Given the description of an element on the screen output the (x, y) to click on. 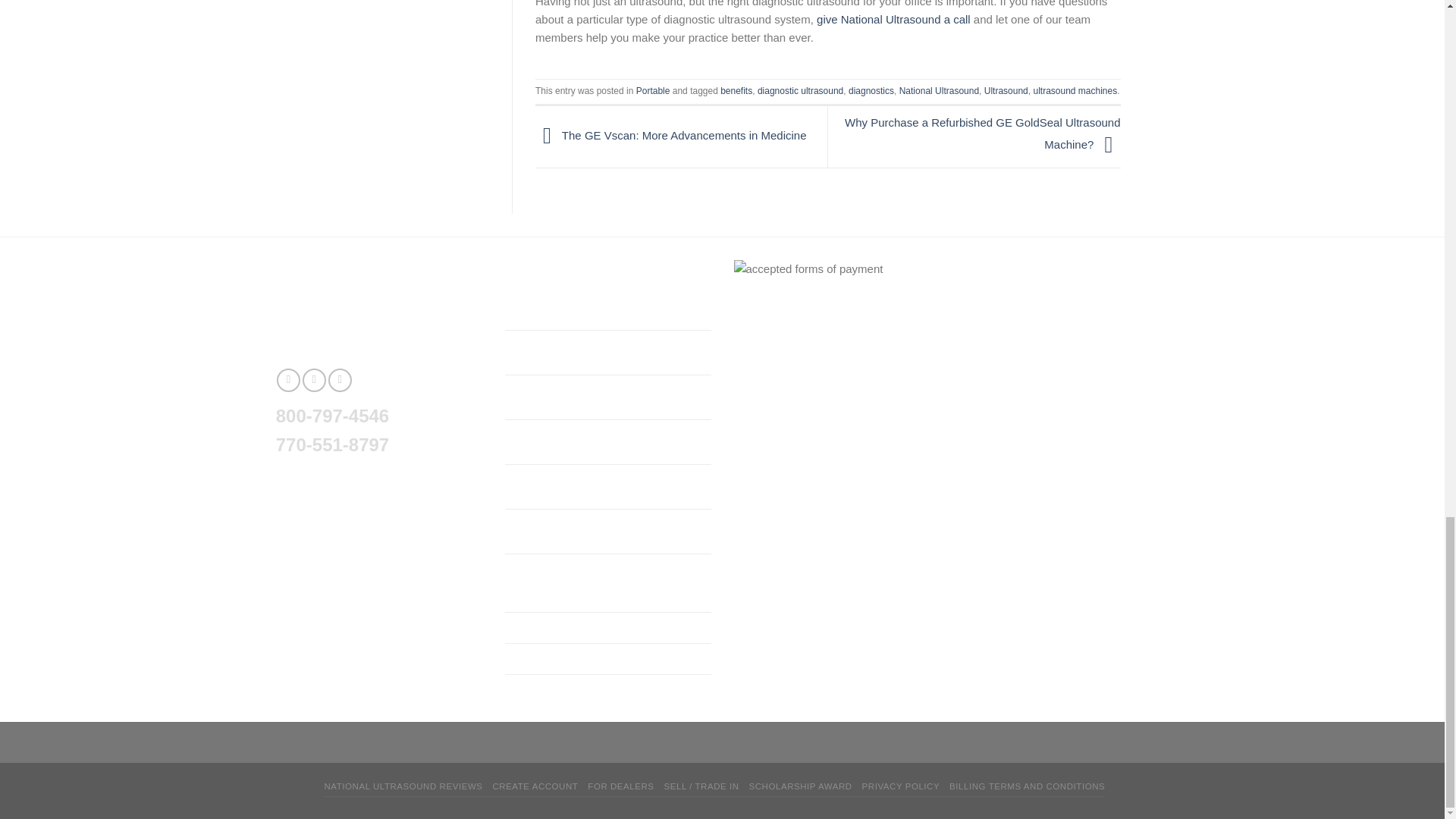
Follow on LinkedIn (340, 380)
Follow on Twitter (314, 380)
Follow on Facebook (287, 380)
